Given the description of an element on the screen output the (x, y) to click on. 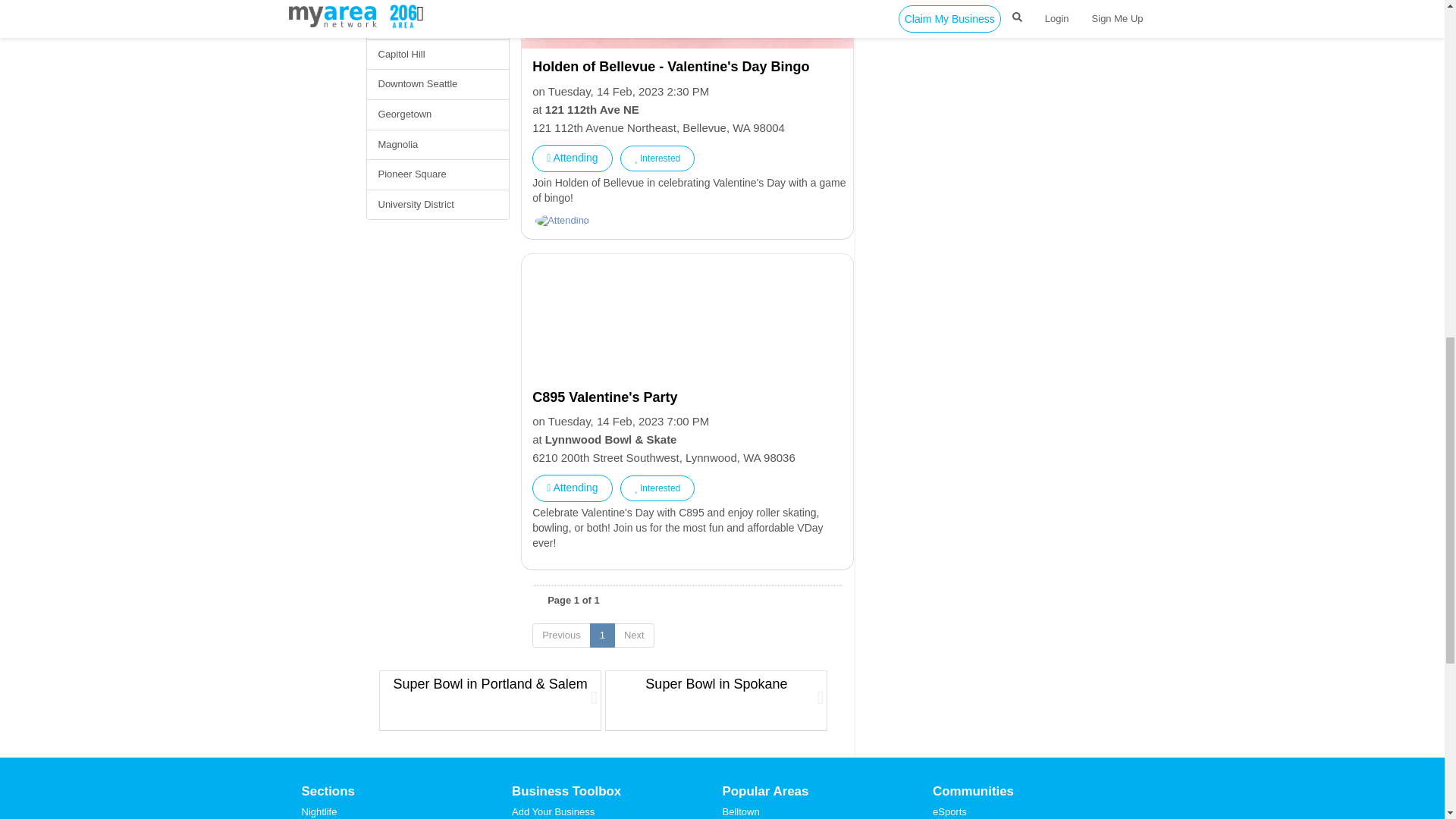
Magnolia (437, 144)
Downtown Seattle (437, 83)
Pioneer Square (437, 174)
Capitol Hill (437, 54)
Belltown (437, 24)
Georgetown (437, 114)
University District (437, 204)
